Given the description of an element on the screen output the (x, y) to click on. 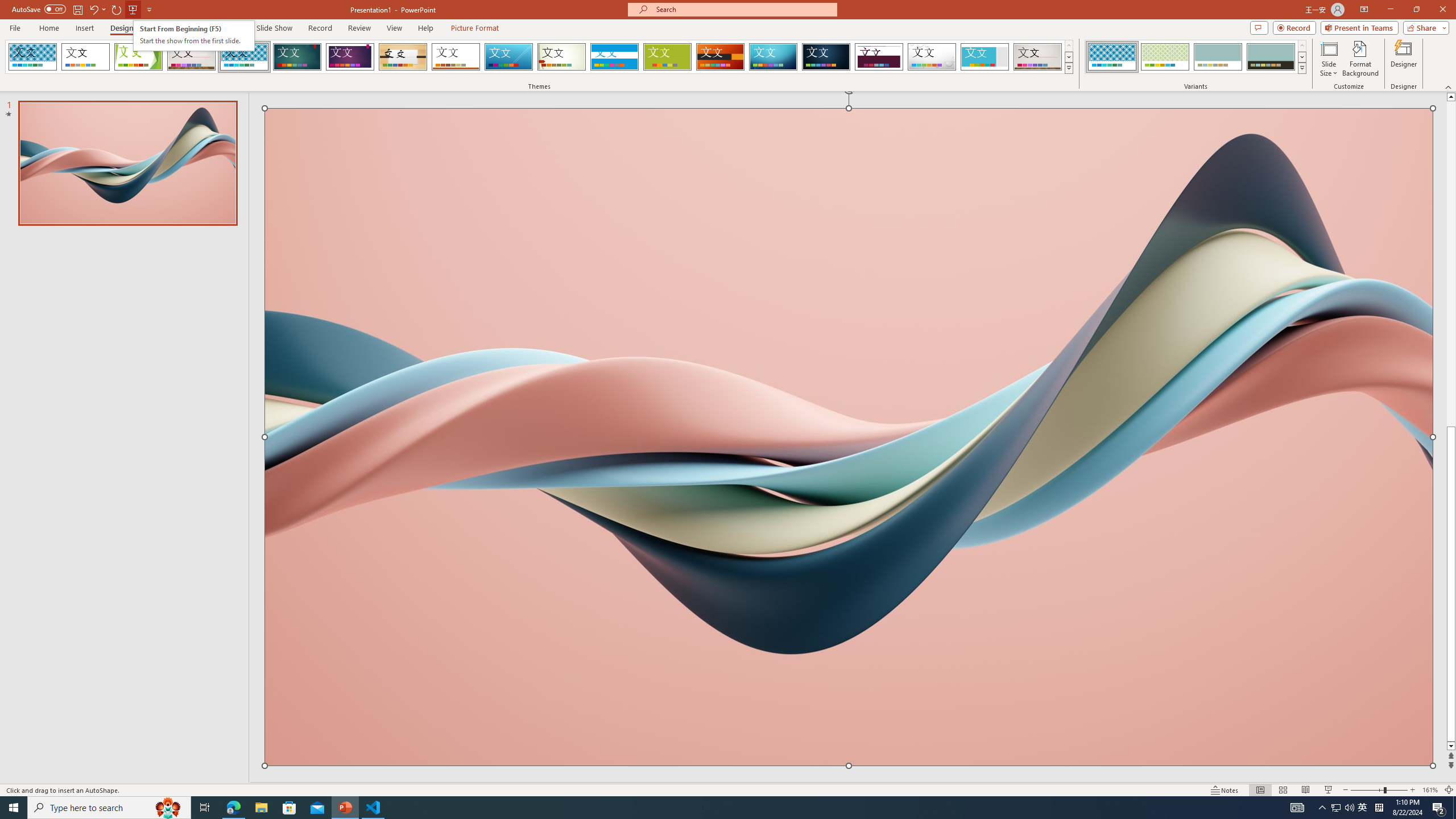
Wavy 3D art (848, 436)
Wisp (561, 56)
Integral Variant 2 (1164, 56)
Integral Variant 4 (1270, 56)
Variants (1301, 67)
Frame (984, 56)
Format Background (1360, 58)
